Given the description of an element on the screen output the (x, y) to click on. 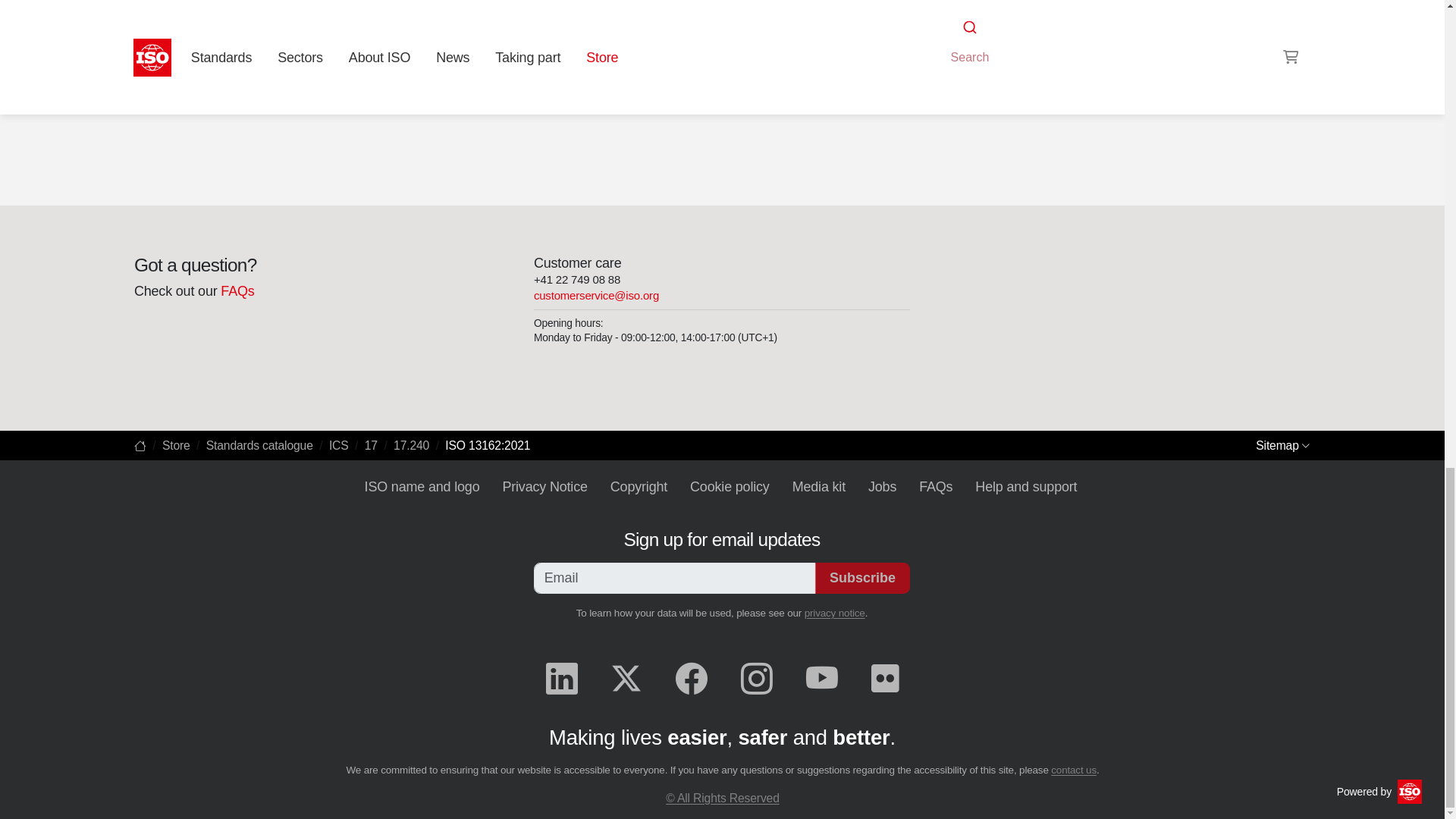
ISO 13162:2011 (199, 62)
